Given the description of an element on the screen output the (x, y) to click on. 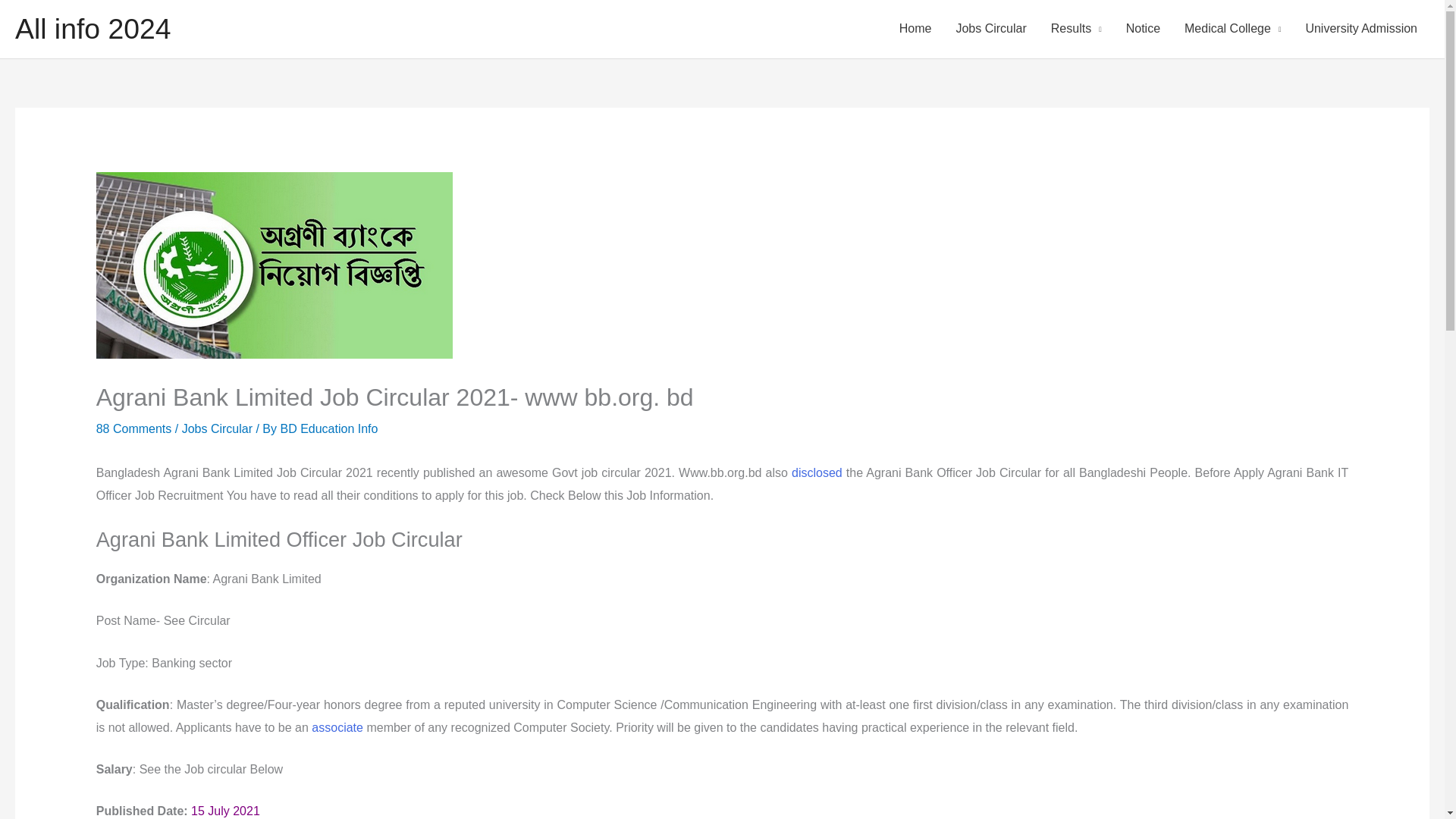
Home (914, 29)
View all posts by BD Education Info (328, 428)
Jobs Circular (216, 428)
associate (336, 727)
88 Comments (133, 428)
Jobs Circular (990, 29)
Results (1076, 29)
University Admission (1360, 29)
Medical College (1232, 29)
disclosed (817, 472)
